Given the description of an element on the screen output the (x, y) to click on. 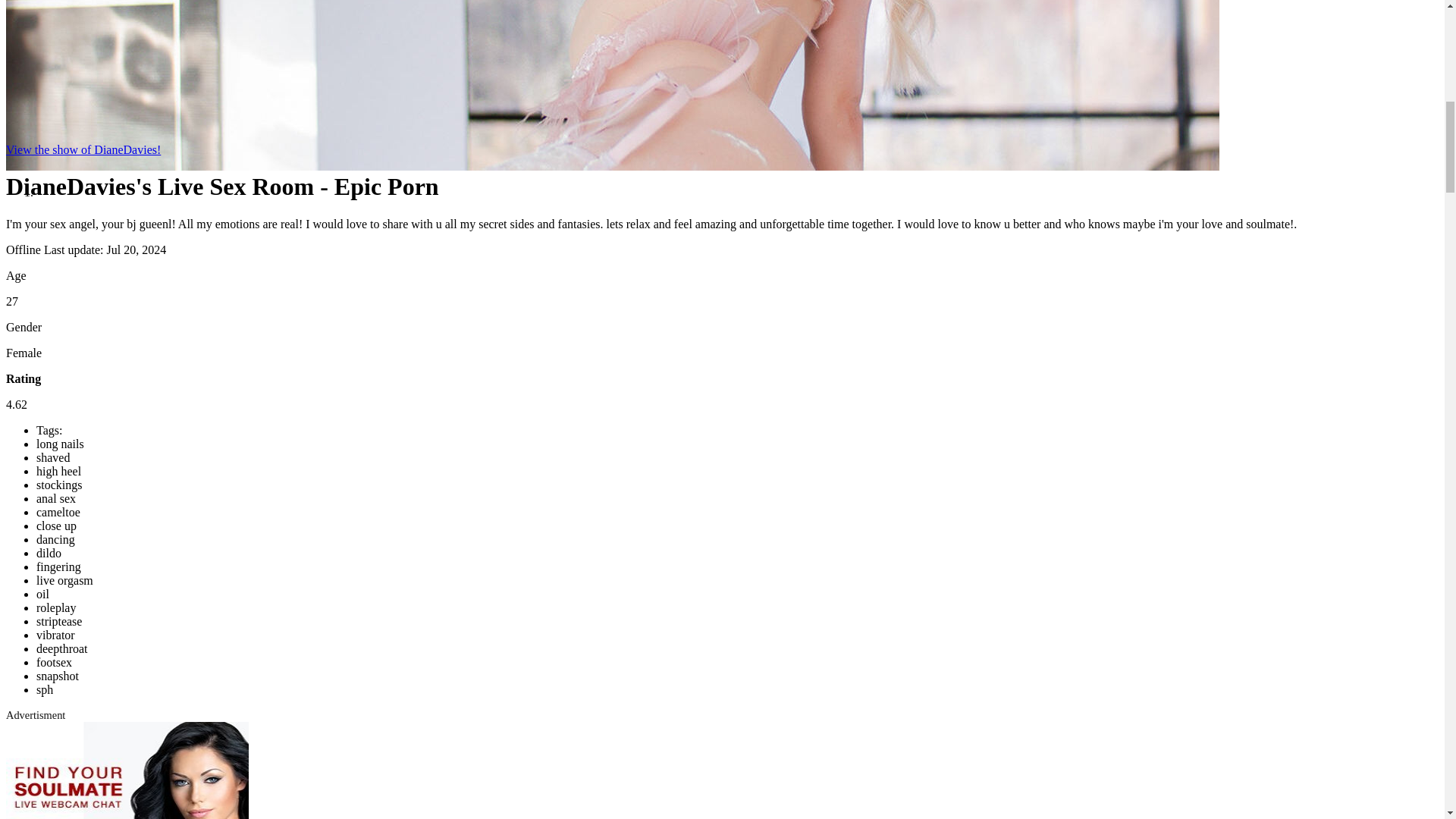
View the show of DianeDavies! (82, 149)
View the show of DianeDavies! (82, 149)
